Given the description of an element on the screen output the (x, y) to click on. 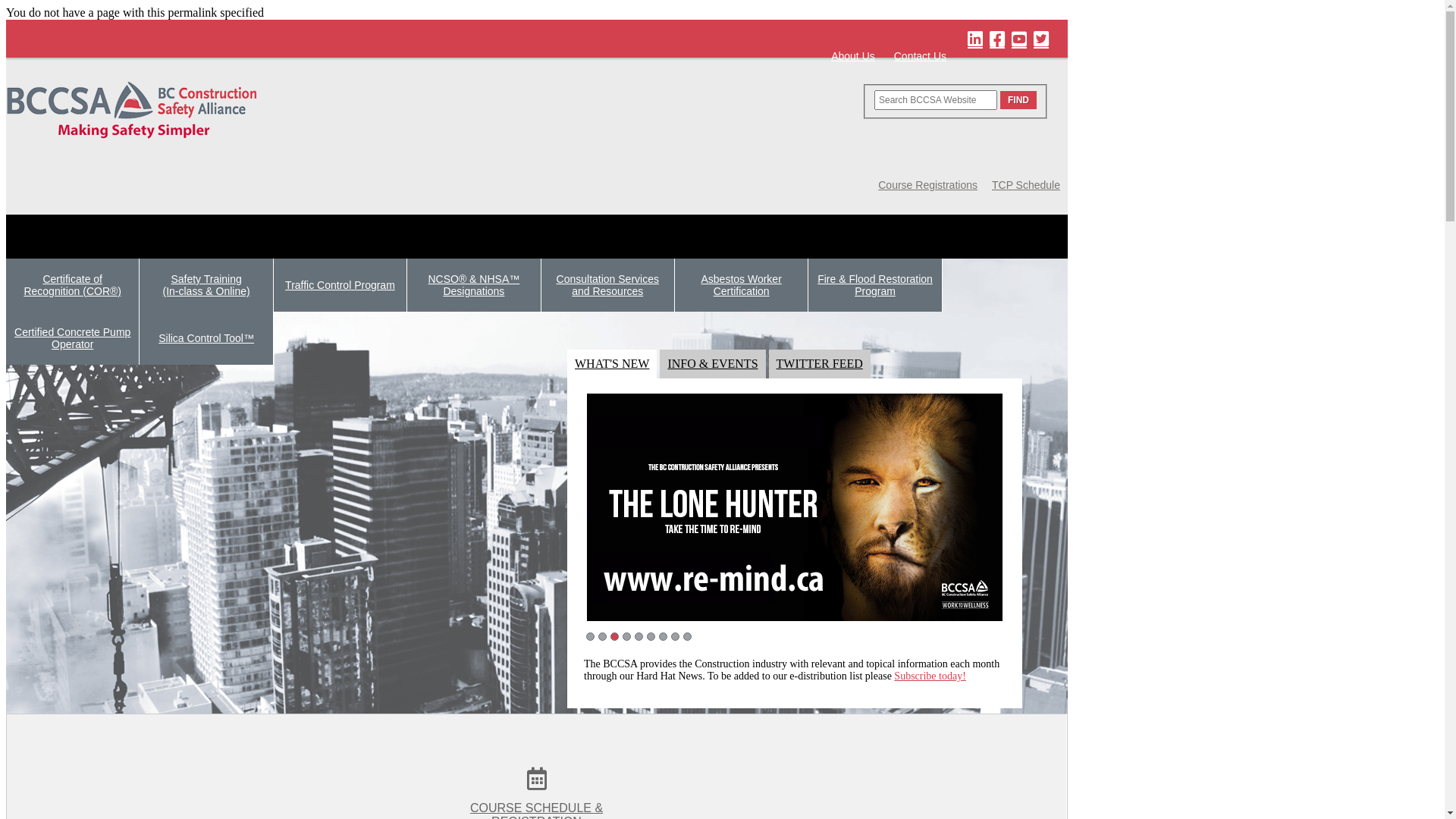
Consultation Services and Resources Element type: text (607, 285)
INFO & EVENTS Element type: text (712, 363)
Contact Us Element type: text (920, 56)
TCP Schedule Element type: text (1025, 184)
Fire & Flood Restoration Program Element type: text (874, 285)
TWITTER FEED Element type: text (819, 363)
About Us Element type: text (853, 56)
Traffic Control Program Element type: text (340, 285)
Asbestos Worker Certification Element type: text (741, 285)
Course Registrations Element type: text (927, 184)
FIND Element type: text (1018, 100)
Certified Concrete Pump Operator Element type: text (72, 338)
Subscribe today! Element type: text (929, 675)
WHAT'S NEW Element type: text (611, 363)
Safety Training
(In-class & Online) Element type: text (205, 285)
